Given the description of an element on the screen output the (x, y) to click on. 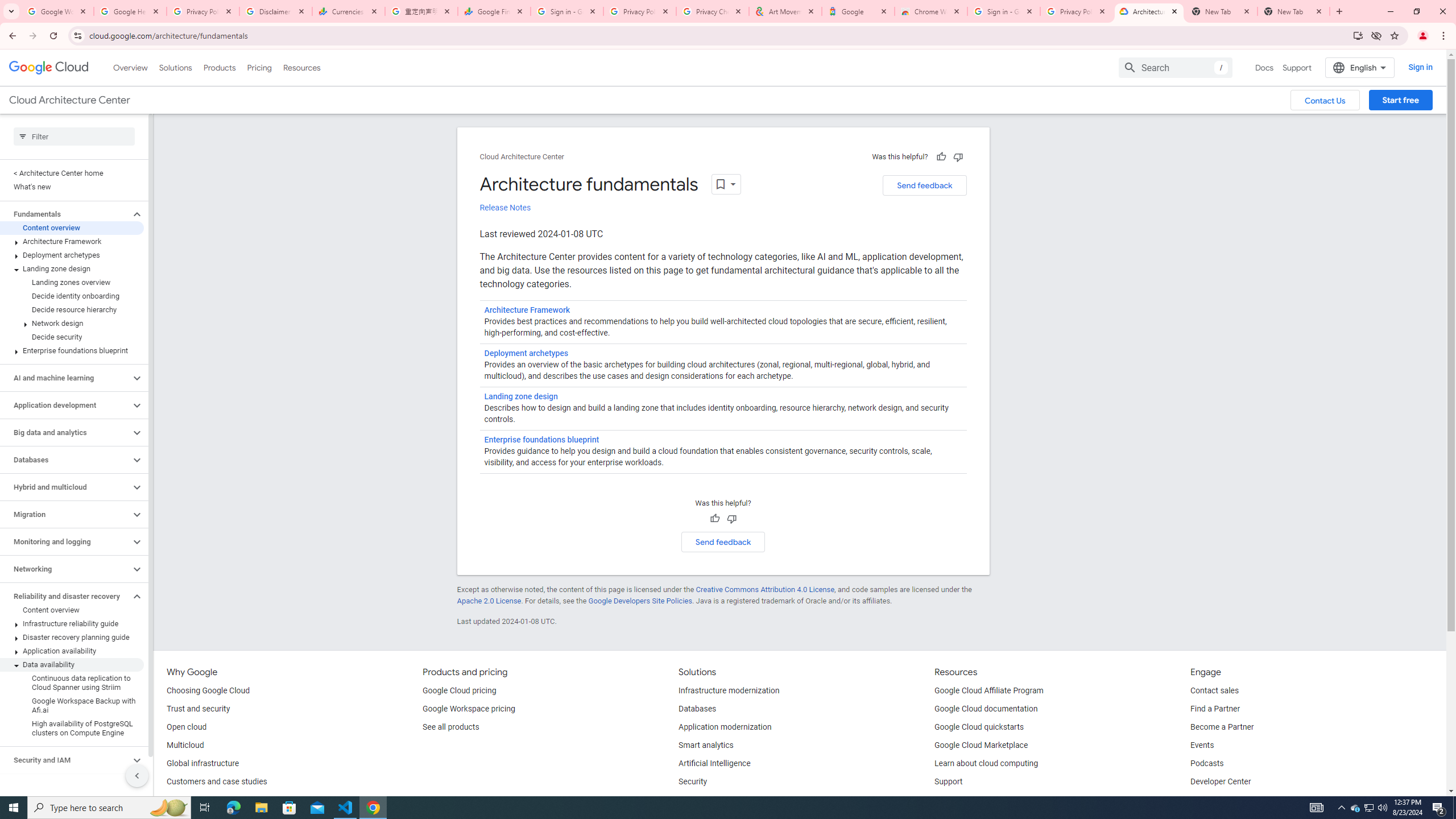
Open cloud (185, 727)
Google Developers Site Policies (639, 600)
Application development (64, 404)
Podcasts (1207, 764)
Decide resource hierarchy (72, 309)
Productivity & work transformation (739, 800)
Release Notes (505, 208)
Deployment archetypes (72, 255)
Docs, selected (1264, 67)
Databases (64, 459)
Google (857, 11)
AI and machine learning (64, 377)
